Given the description of an element on the screen output the (x, y) to click on. 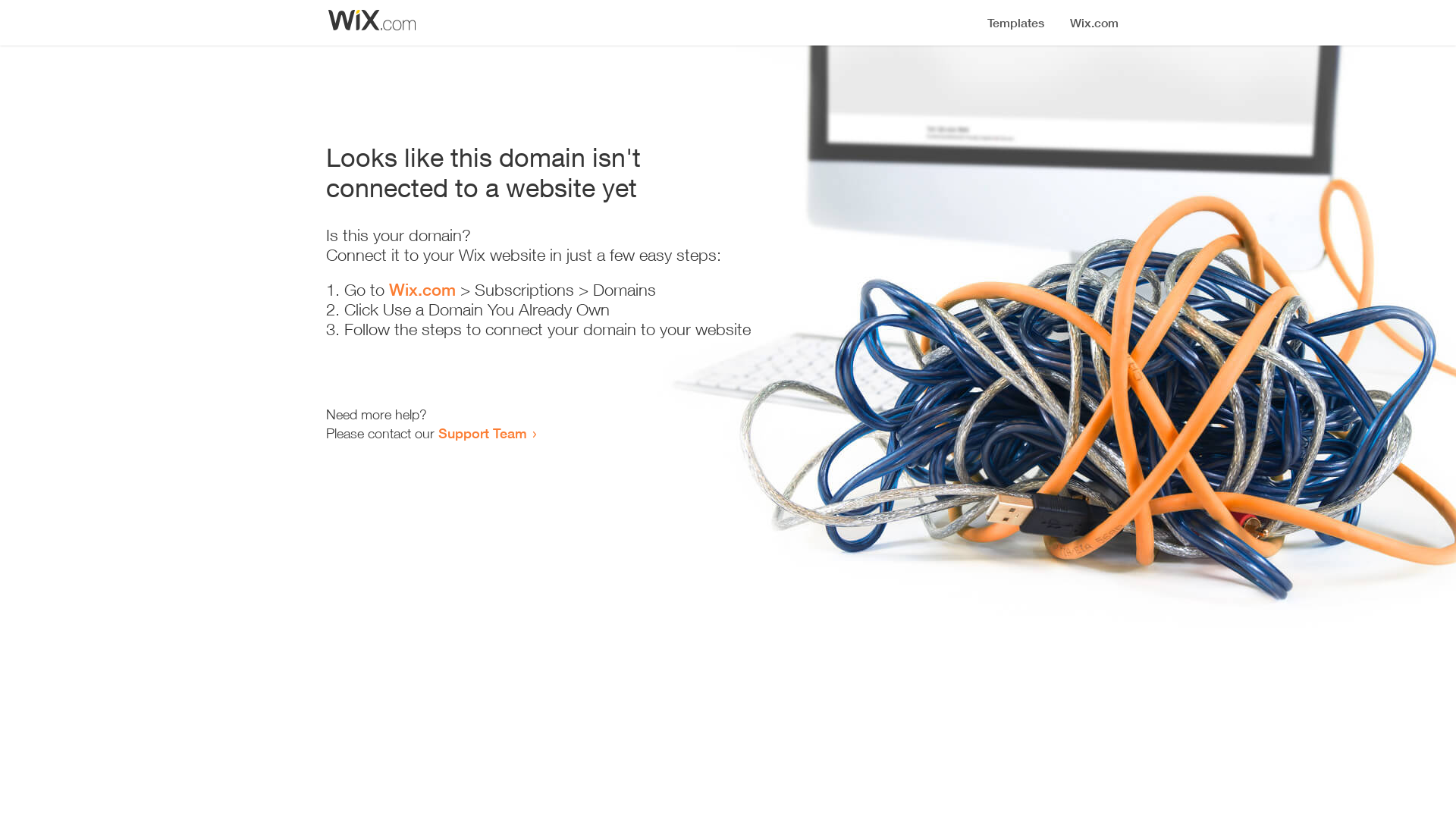
Support Team Element type: text (482, 432)
Wix.com Element type: text (422, 289)
